Given the description of an element on the screen output the (x, y) to click on. 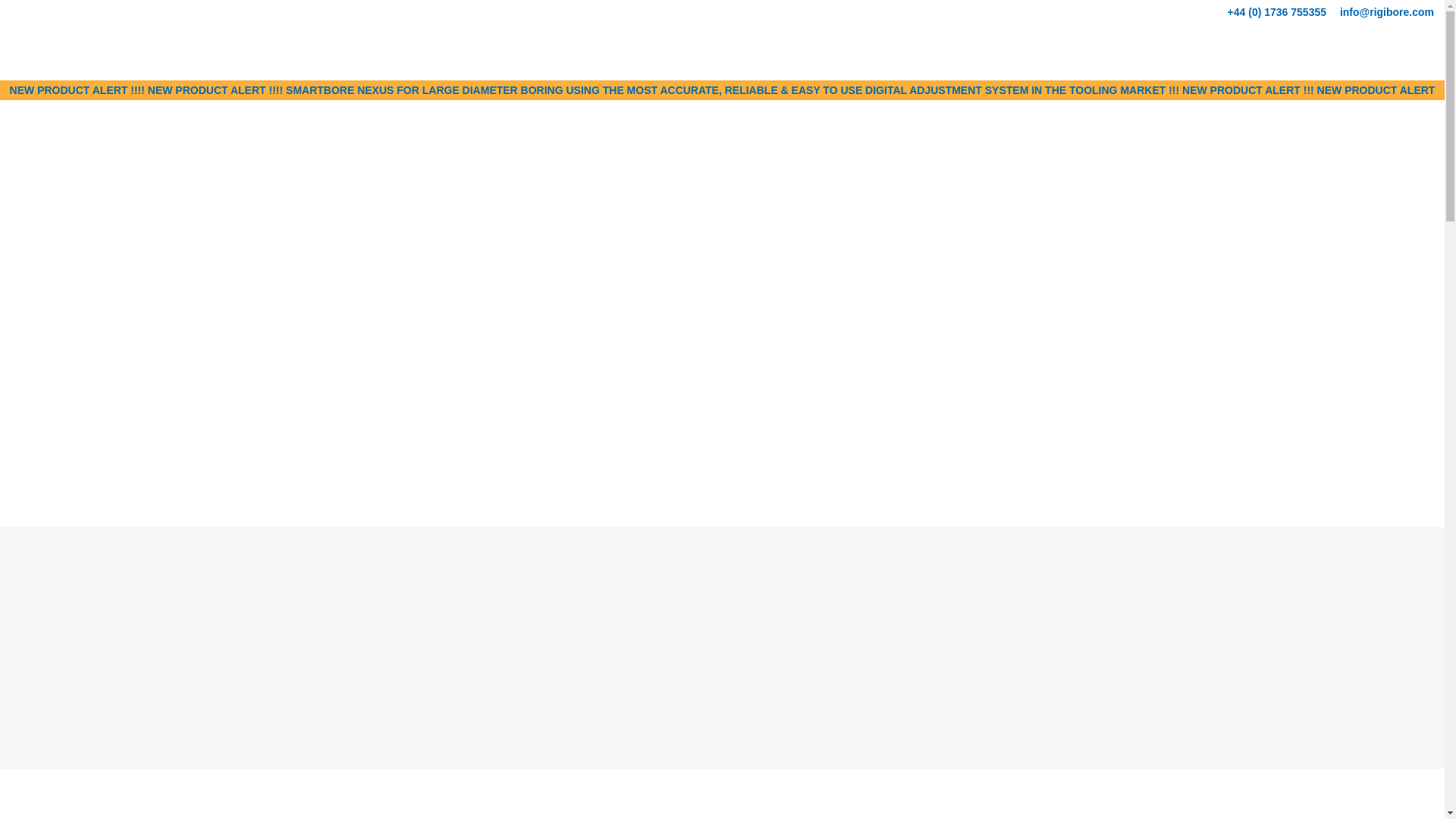
Rigibore (108, 49)
